Given the description of an element on the screen output the (x, y) to click on. 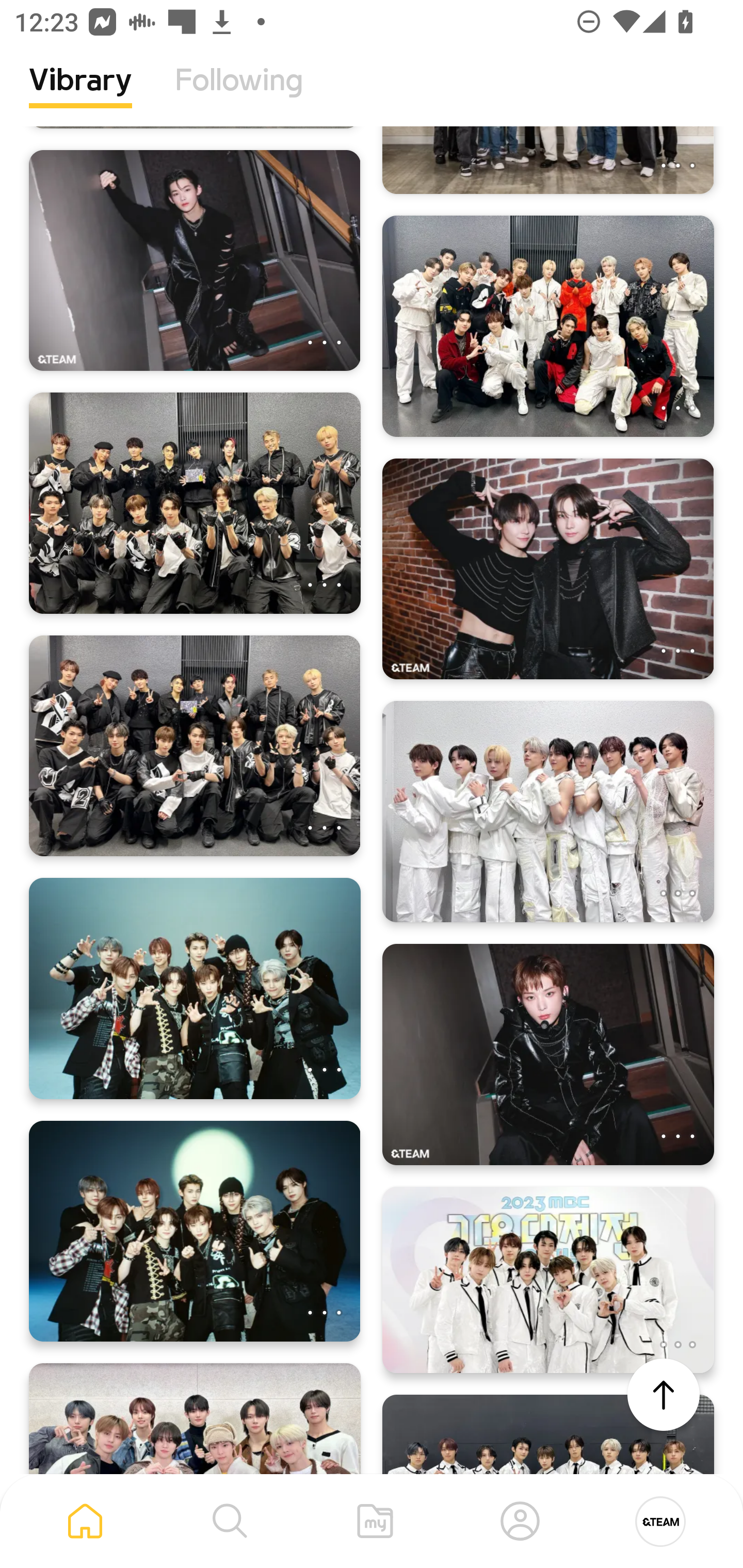
Vibrary (80, 95)
Following (239, 95)
